Given the description of an element on the screen output the (x, y) to click on. 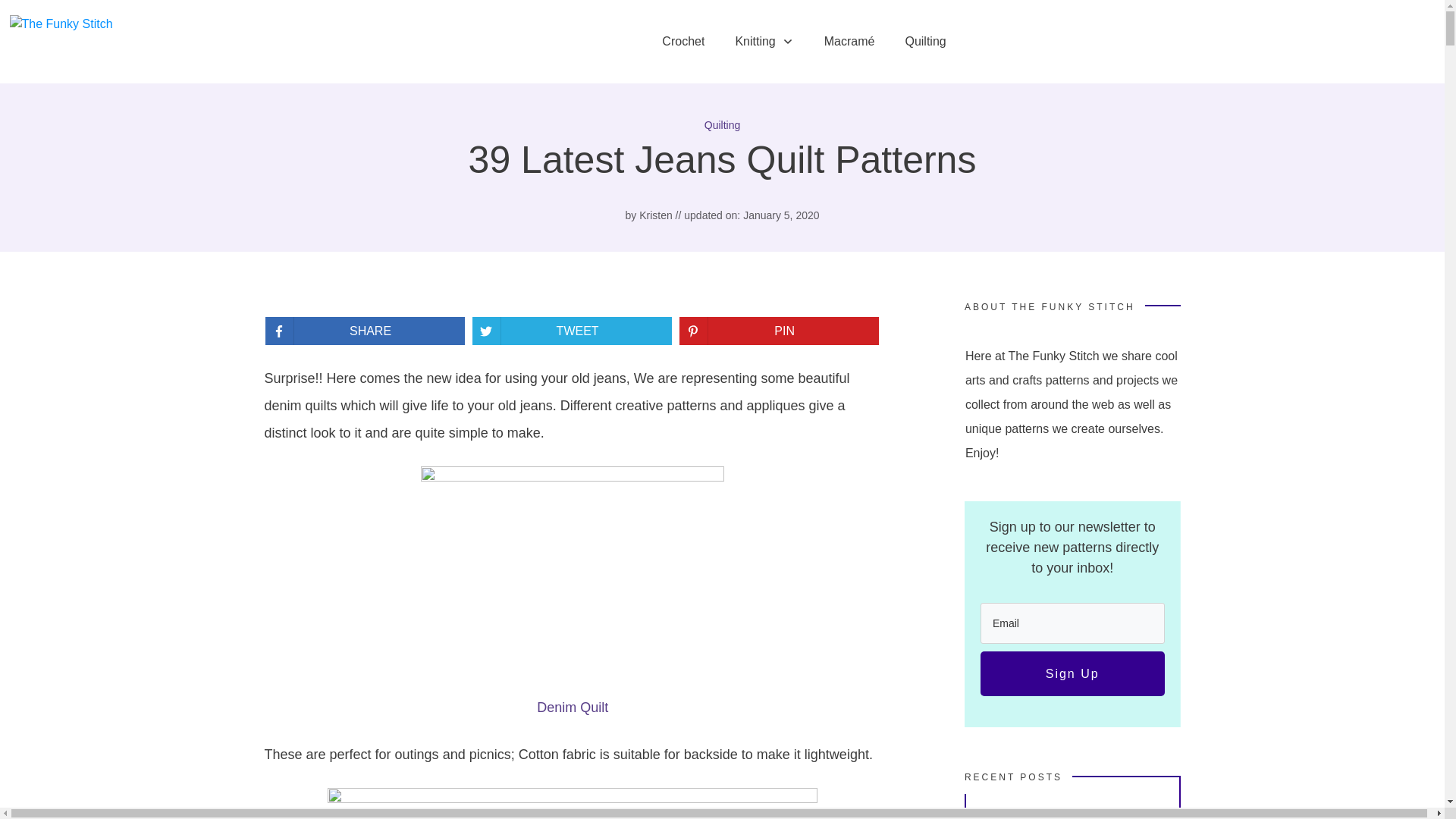
TWEET (566, 330)
PIN (774, 330)
Quilting (721, 124)
Crochet (683, 41)
SHARE (359, 330)
Knitting (764, 41)
Denim Quilt (572, 707)
Quilting (721, 124)
Quilting (924, 41)
